Given the description of an element on the screen output the (x, y) to click on. 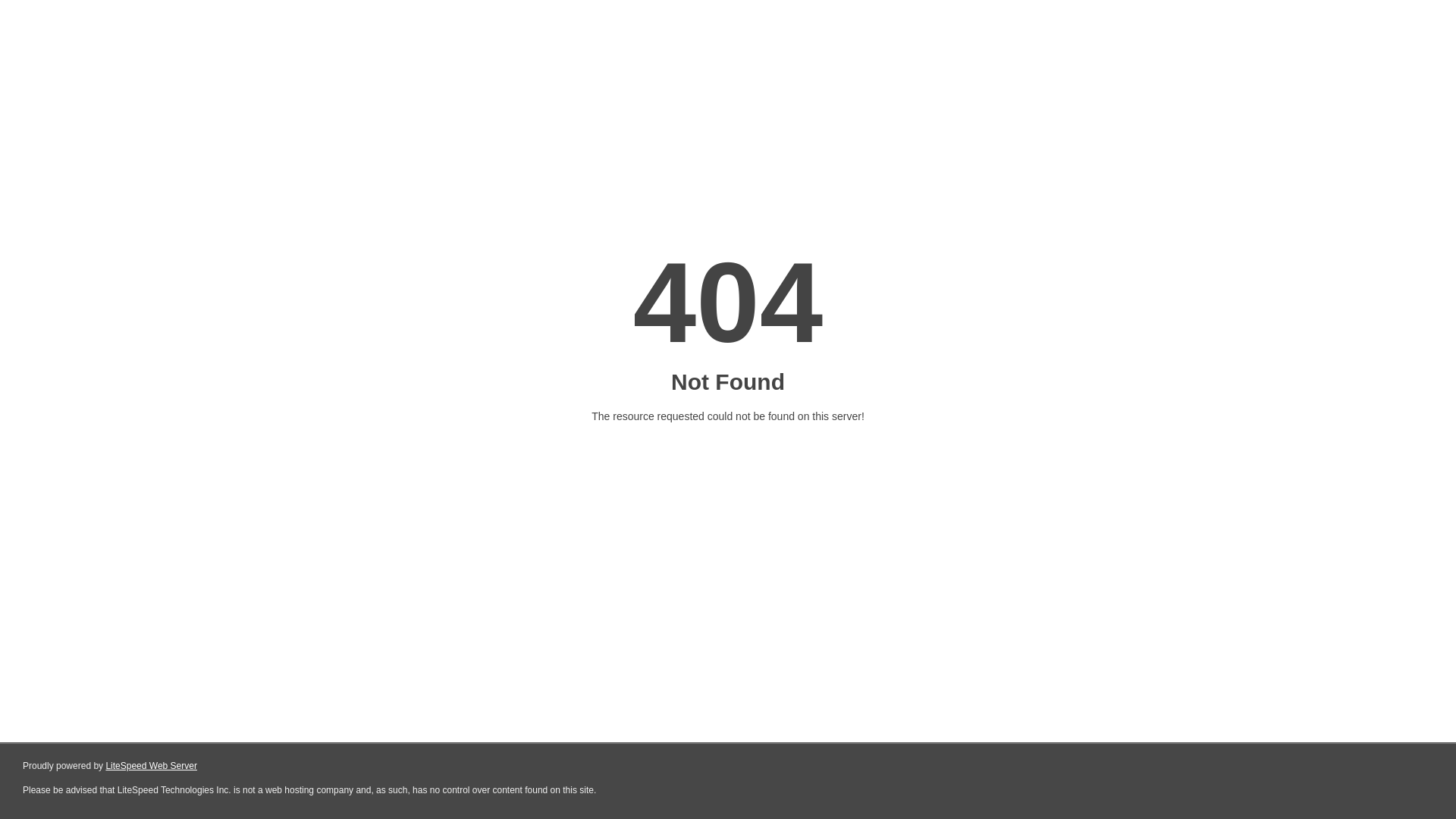
LiteSpeed Web Server Element type: text (151, 765)
